Given the description of an element on the screen output the (x, y) to click on. 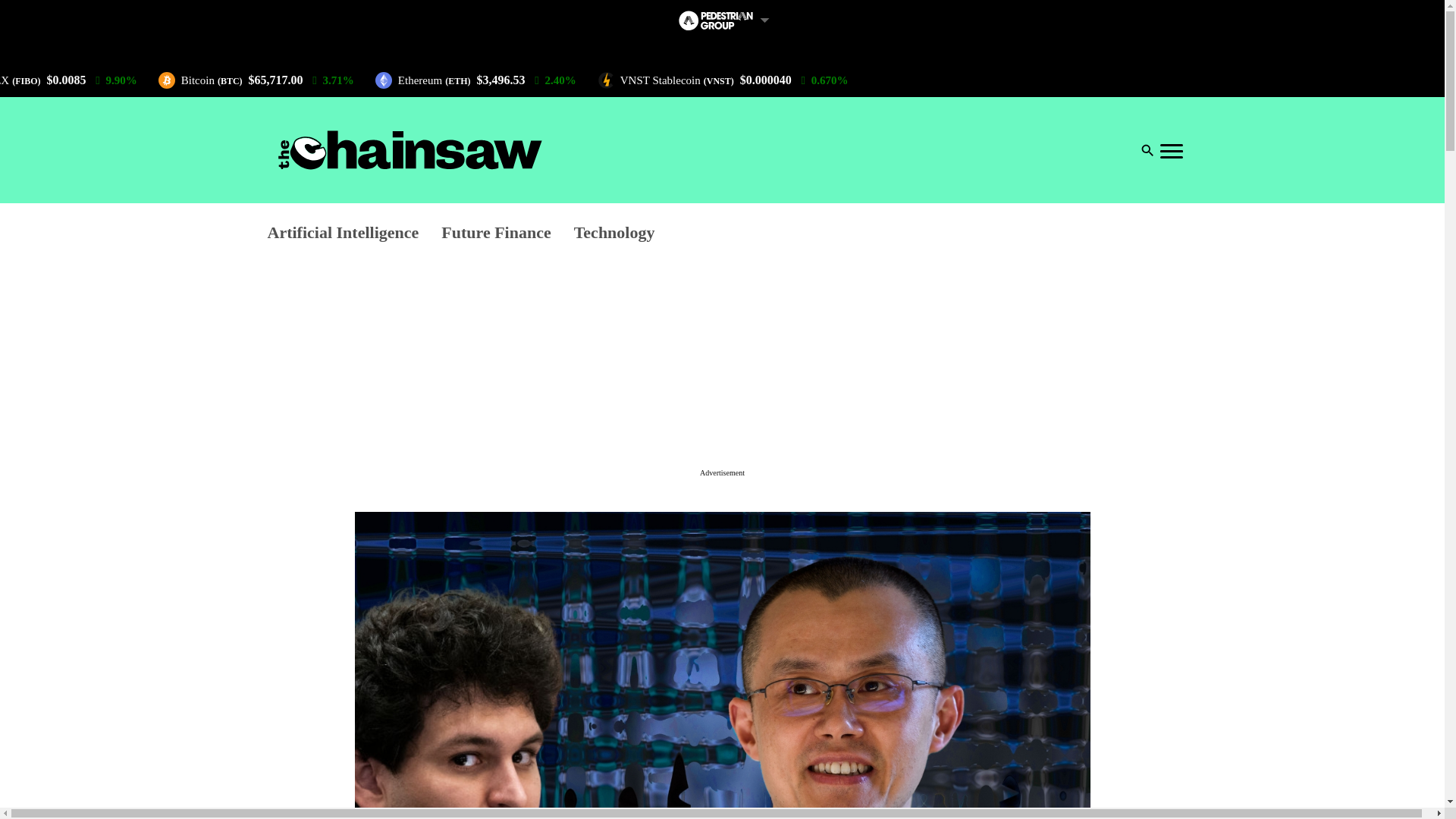
Future Finance (495, 233)
Technology (614, 233)
Artificial Intelligence (342, 233)
